Given the description of an element on the screen output the (x, y) to click on. 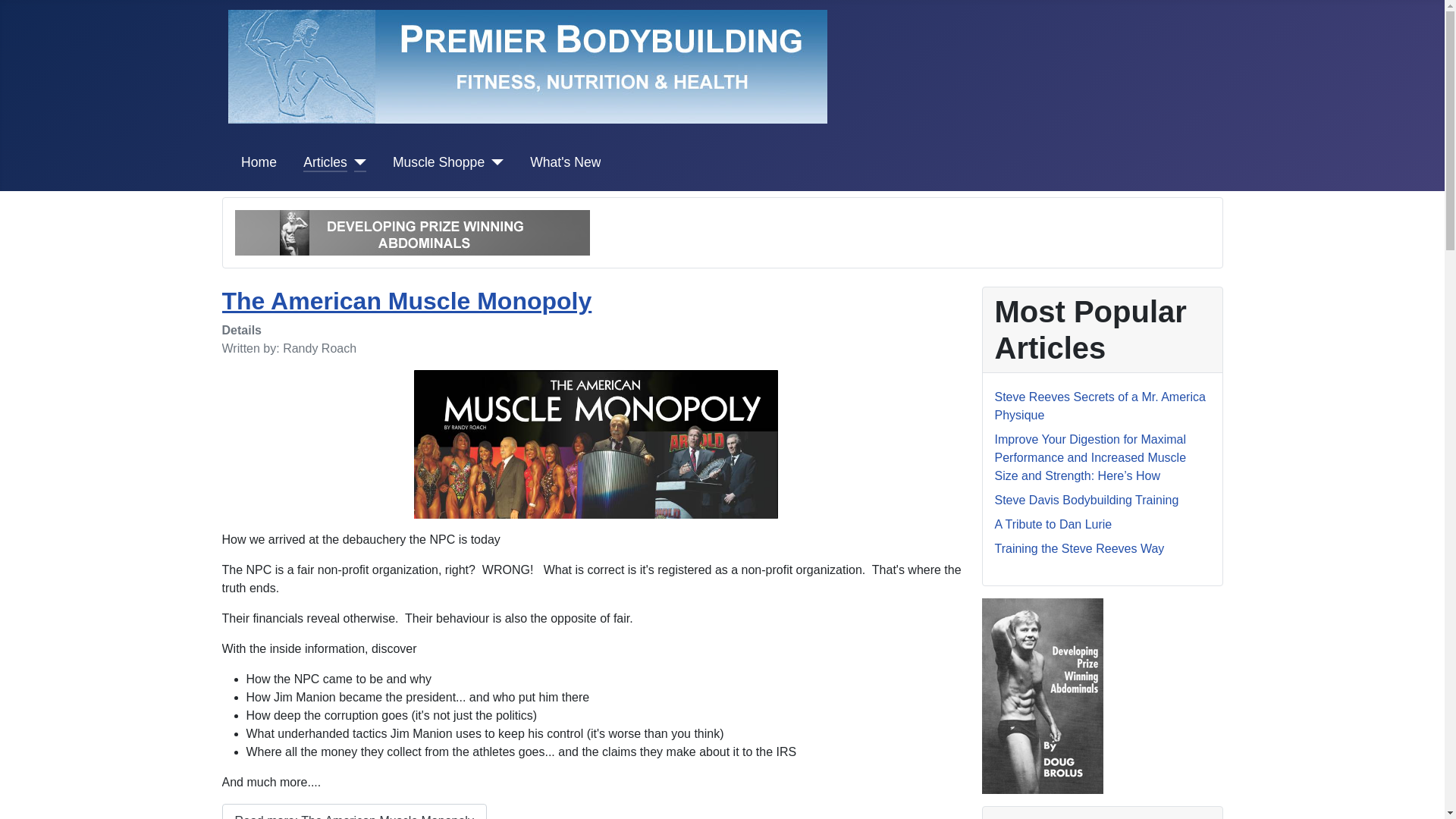
The American Muscle Monopoly (406, 300)
Steve Davis Bodybuilding Training (1086, 499)
Developing Prize Winning Abdominals (1041, 694)
Authors (324, 161)
What's New (564, 161)
Steve Reeves Secrets of a Mr. America Physique (1099, 405)
The American Muscle Monopoly (595, 443)
Read more: The American Muscle Monopoly (353, 811)
Home (258, 161)
Muscle Shoppe (438, 161)
A Tribute to Dan Lurie (1053, 523)
Articles (324, 161)
Developing Prize Winning Abdominals (411, 231)
